Given the description of an element on the screen output the (x, y) to click on. 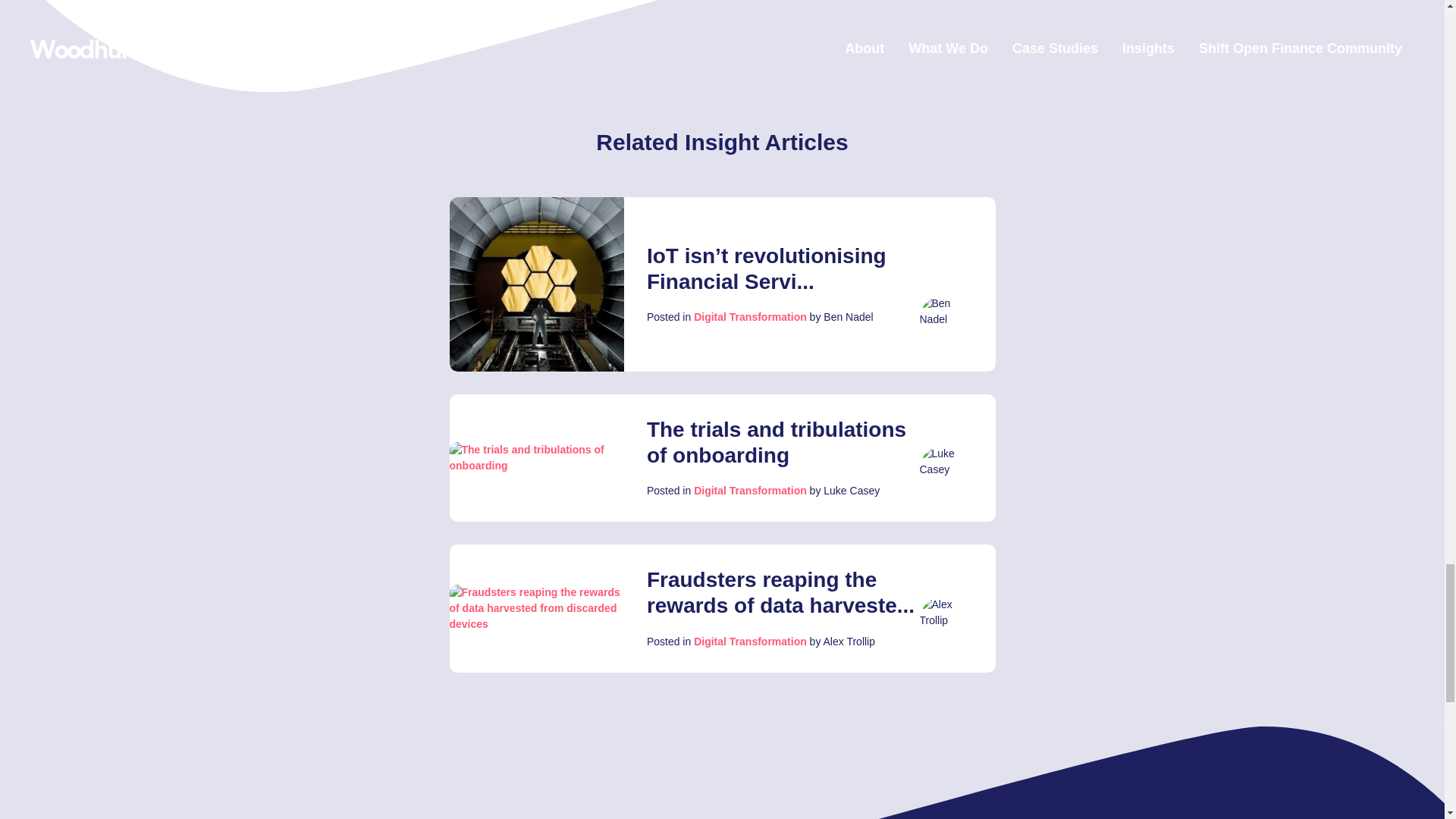
Digital Transformation (750, 641)
Fraudsters reaping the rewards of data harveste... (780, 592)
Digital Transformation (750, 316)
The trials and tribulations of onboarding (775, 441)
Digital Transformation (750, 490)
